Given the description of an element on the screen output the (x, y) to click on. 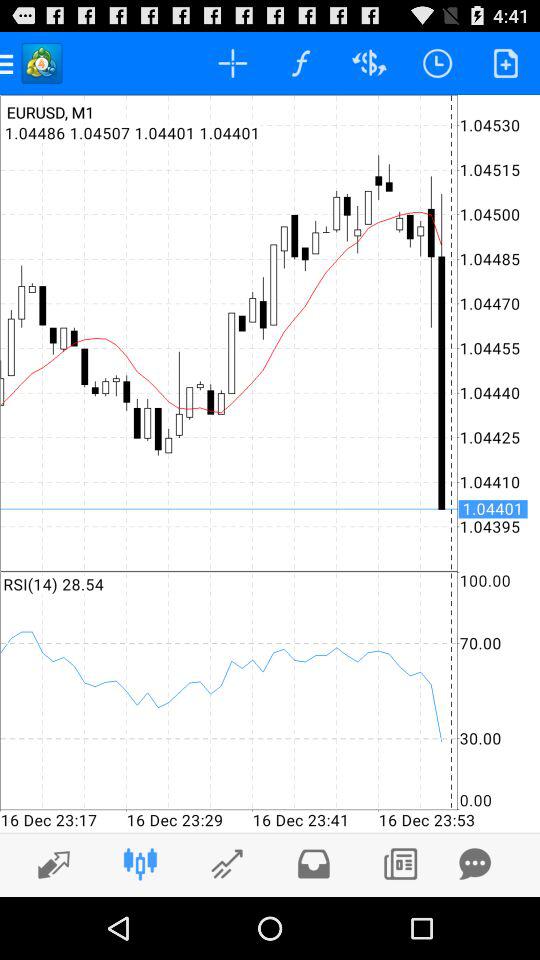
select the fourth option from the left (300, 62)
select the symbol which has  symbol in it (368, 62)
click the right bottom button (399, 864)
click on the timer which is on the top right side (437, 62)
2nd icon at the bottom of the page (140, 864)
